Given the description of an element on the screen output the (x, y) to click on. 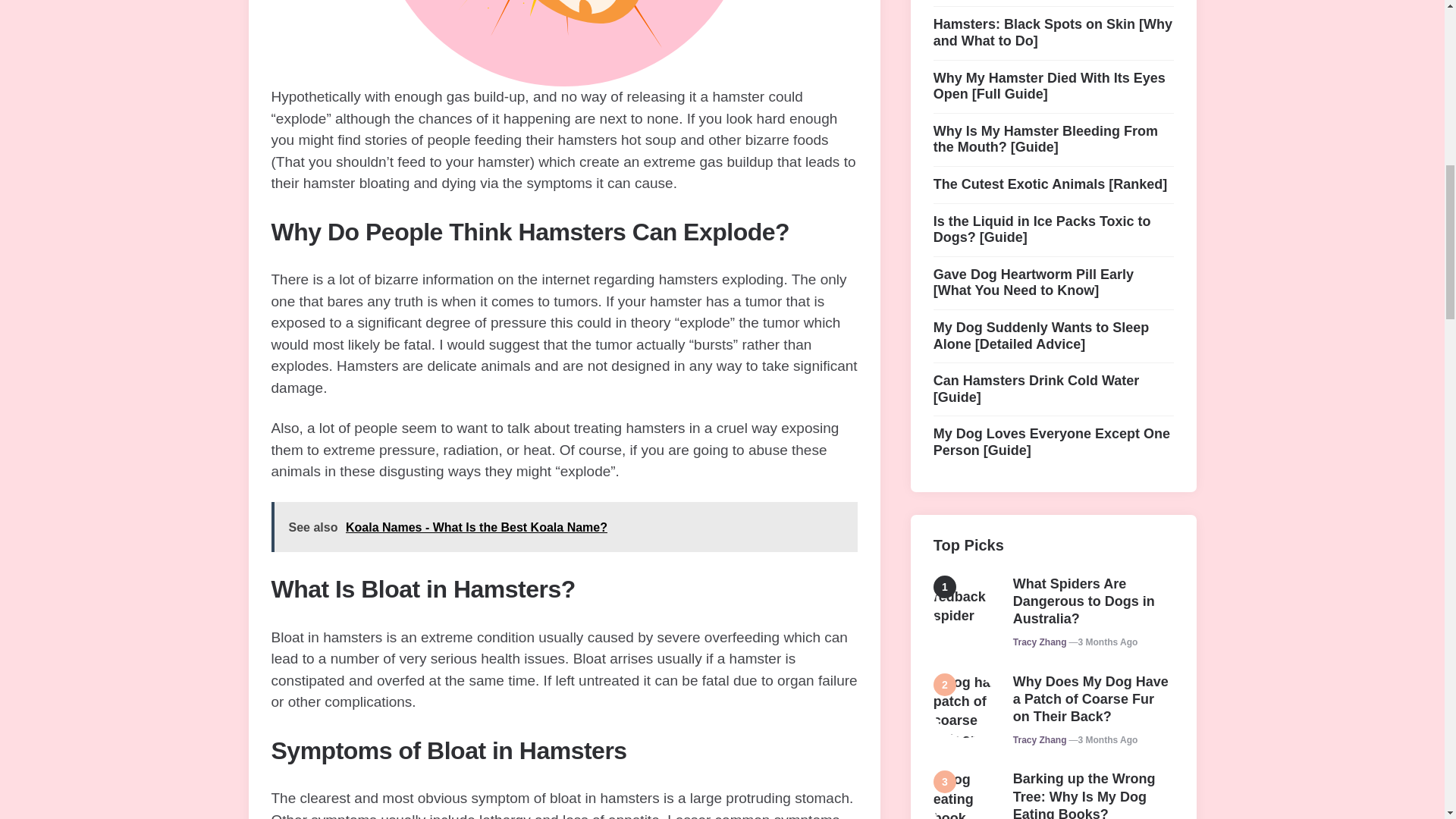
See also  Koala Names - What Is the Best Koala Name? (563, 527)
